Given the description of an element on the screen output the (x, y) to click on. 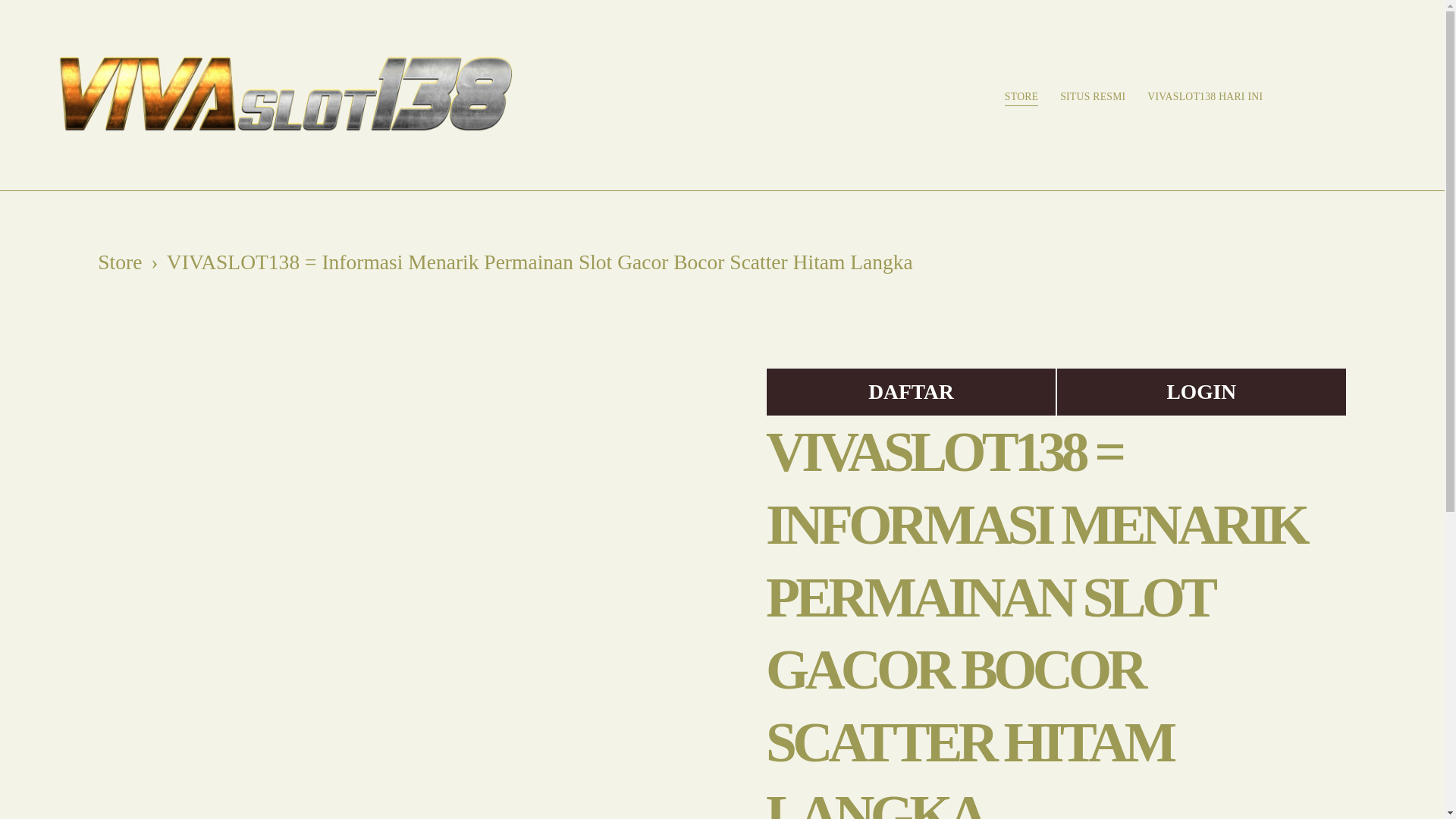
STORE (1021, 96)
DAFTAR (911, 391)
LOGIN (1201, 391)
SITUS RESMI (1092, 96)
Store (119, 261)
VIVASLOT138 HARI INI (1204, 96)
